Given the description of an element on the screen output the (x, y) to click on. 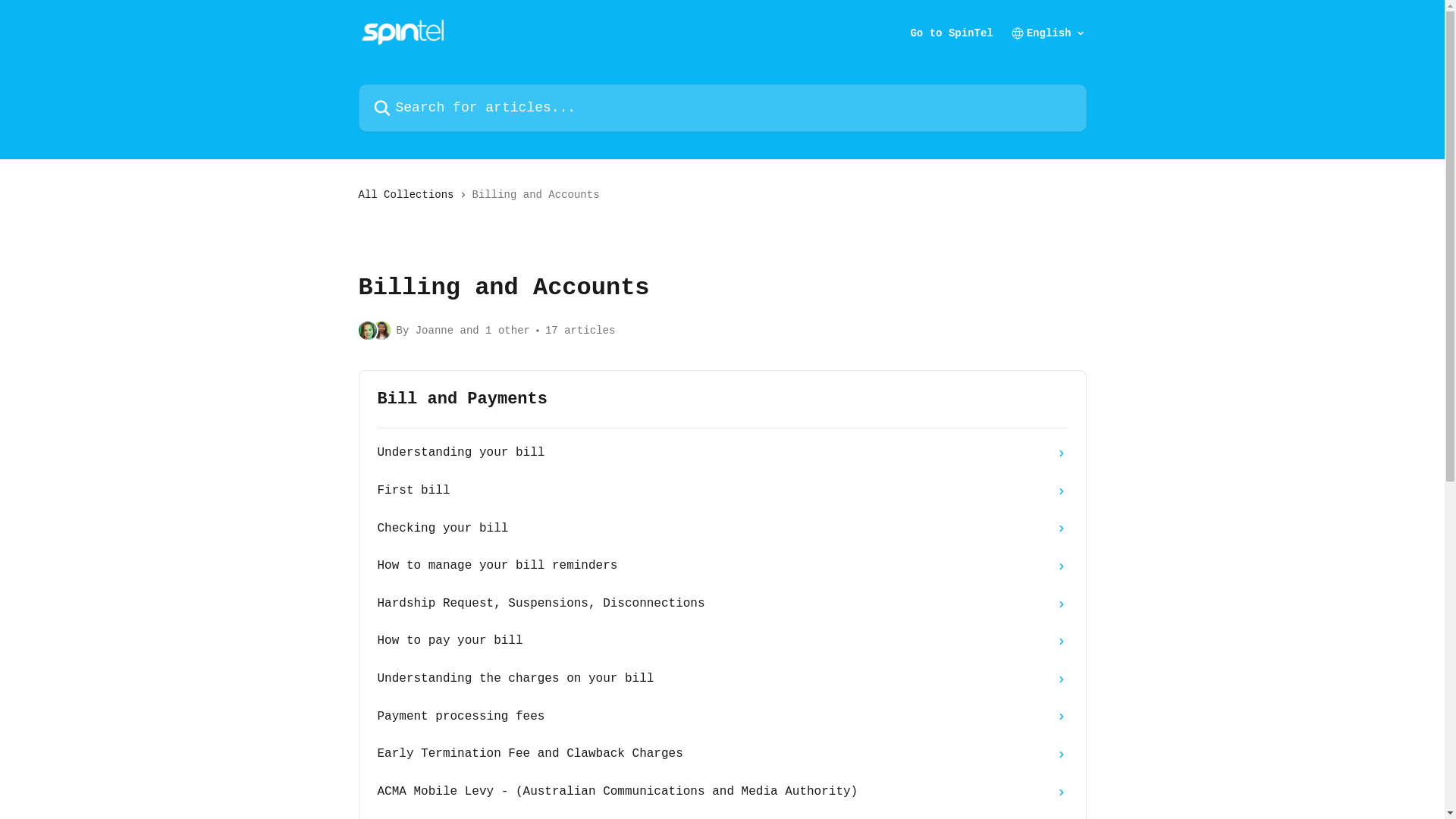
Understanding the charges on your bill Element type: text (722, 679)
First bill Element type: text (722, 491)
All Collections Element type: text (408, 194)
How to pay your bill Element type: text (722, 641)
How to manage your bill reminders Element type: text (722, 566)
Early Termination Fee and Clawback Charges Element type: text (722, 754)
Bill and Payments Element type: text (722, 399)
Checking your bill Element type: text (722, 529)
Understanding your bill Element type: text (722, 453)
Hardship Request, Suspensions, Disconnections Element type: text (722, 604)
Go to SpinTel Element type: text (951, 32)
Payment processing fees Element type: text (722, 717)
